Given the description of an element on the screen output the (x, y) to click on. 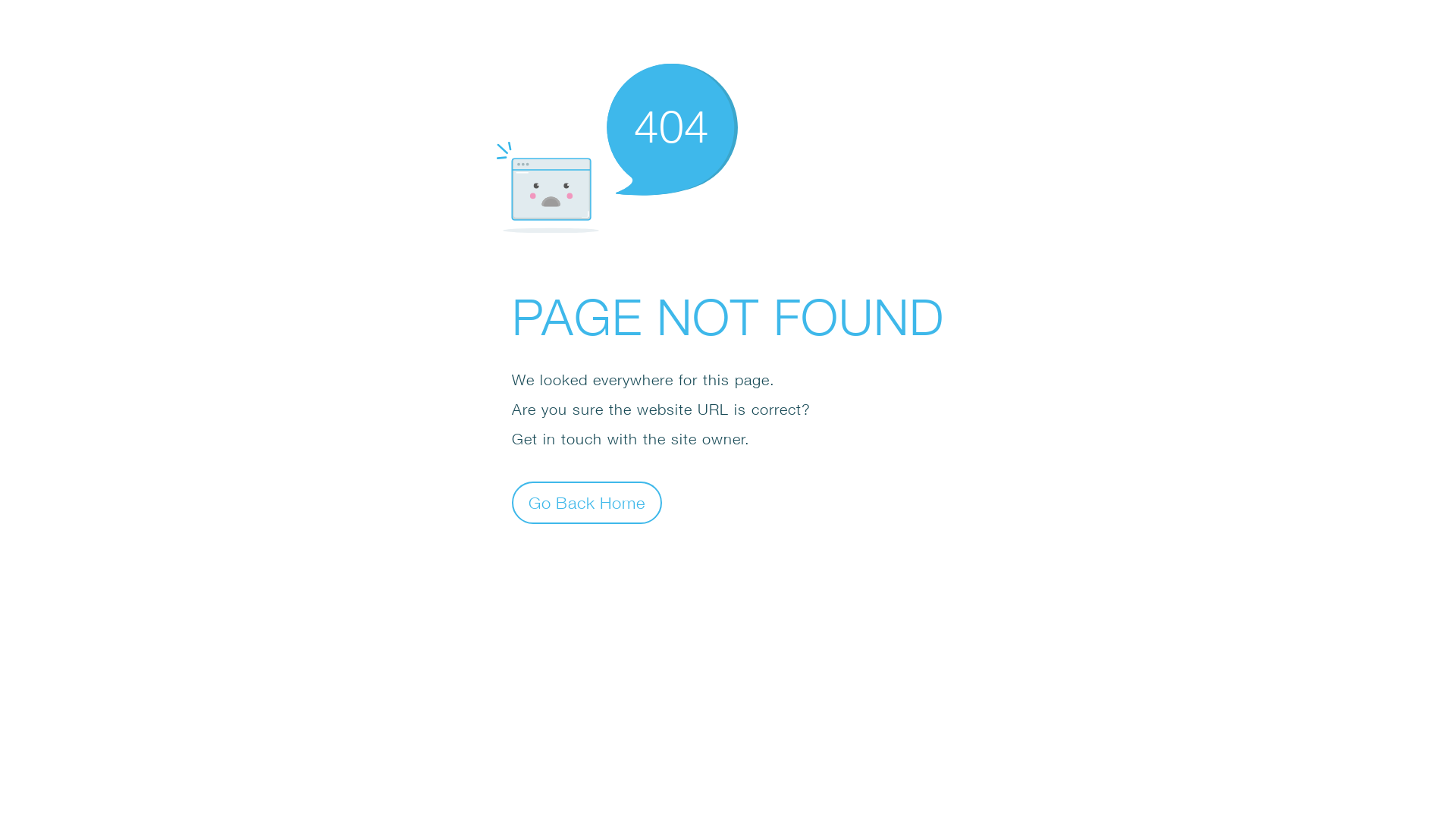
Go Back Home Element type: text (586, 502)
